Given the description of an element on the screen output the (x, y) to click on. 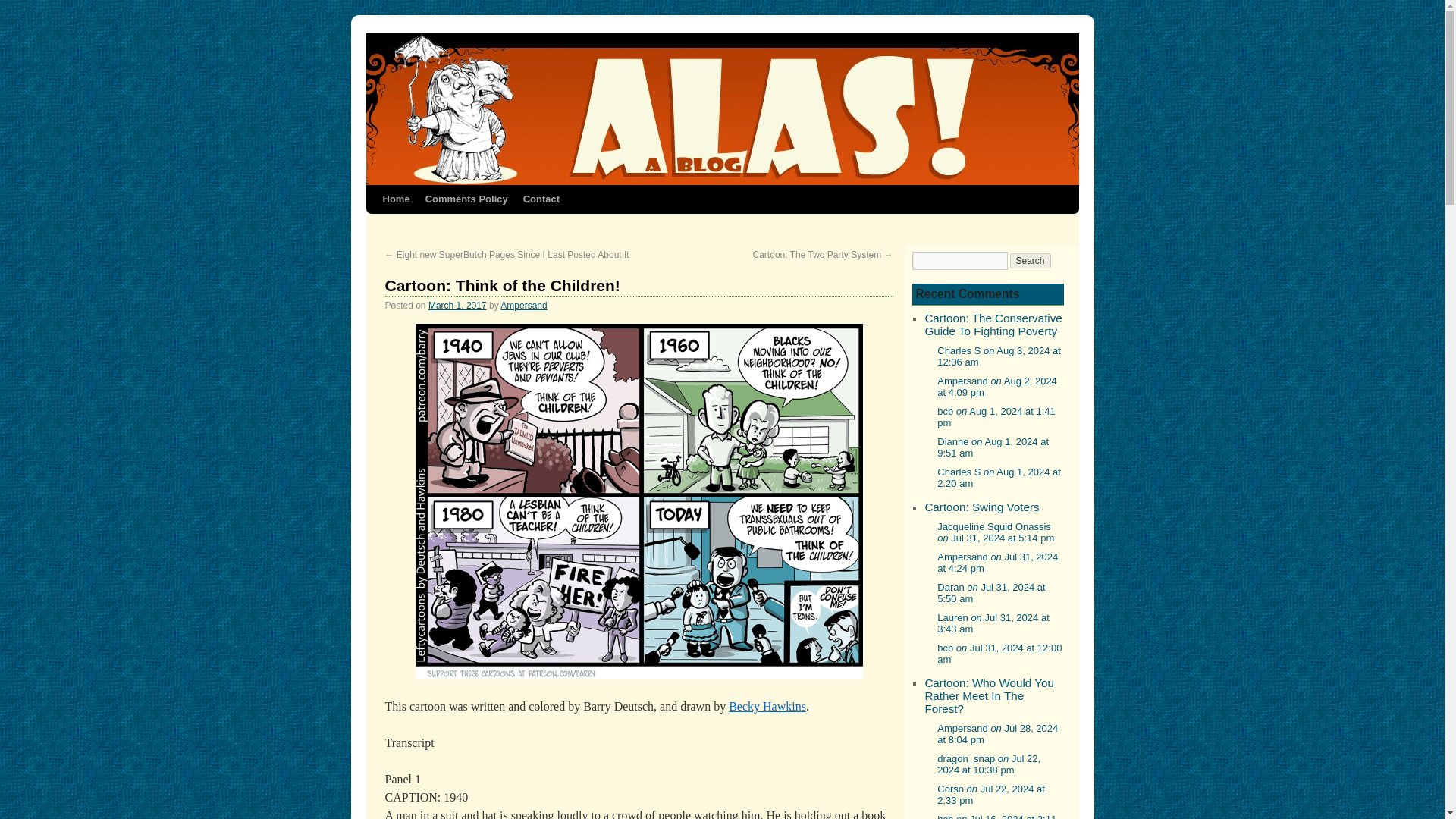
Jacqueline Squid Onassis on Jul 31, 2024 at 5:14 pm (995, 531)
Home (395, 199)
Dianne on Aug 1, 2024 at 9:51 am (992, 446)
Charles S on Aug 3, 2024 at 12:06 am (999, 355)
Comments Policy (466, 199)
Search (1030, 260)
11:57 pm (457, 305)
Charles S on Aug 1, 2024 at 2:20 am (999, 477)
Search (1030, 260)
Contact (541, 199)
